Given the description of an element on the screen output the (x, y) to click on. 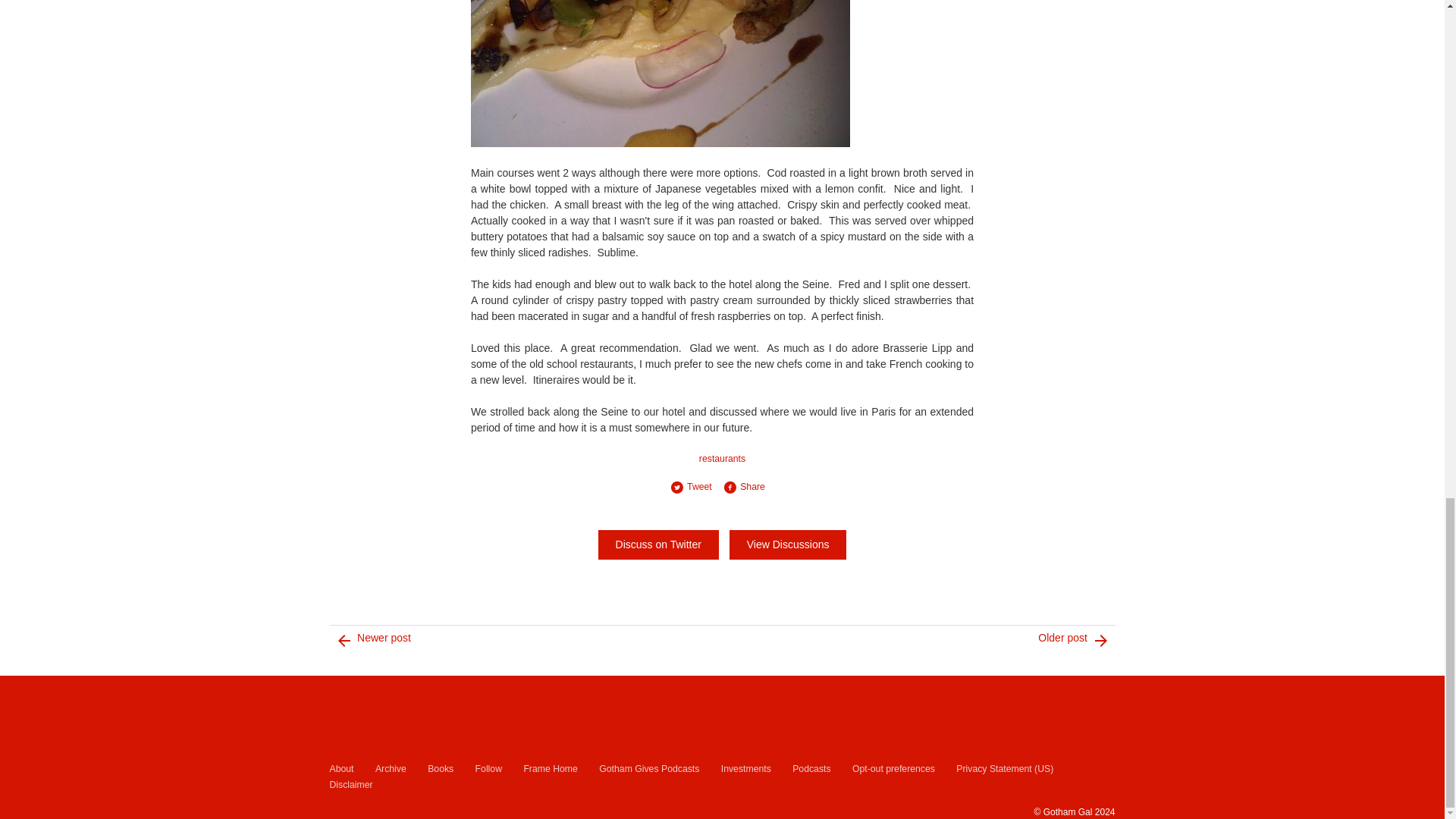
Tweet (696, 486)
About (341, 768)
Investments (745, 768)
Opt-out preferences (892, 768)
Books (440, 768)
Books (440, 768)
Frame Home (549, 768)
Frame Home (549, 768)
About (341, 768)
Archive (390, 768)
Follow (489, 768)
View Discussions (788, 544)
Disclaimer (350, 784)
Podcasts (810, 768)
restaurants (721, 458)
